Given the description of an element on the screen output the (x, y) to click on. 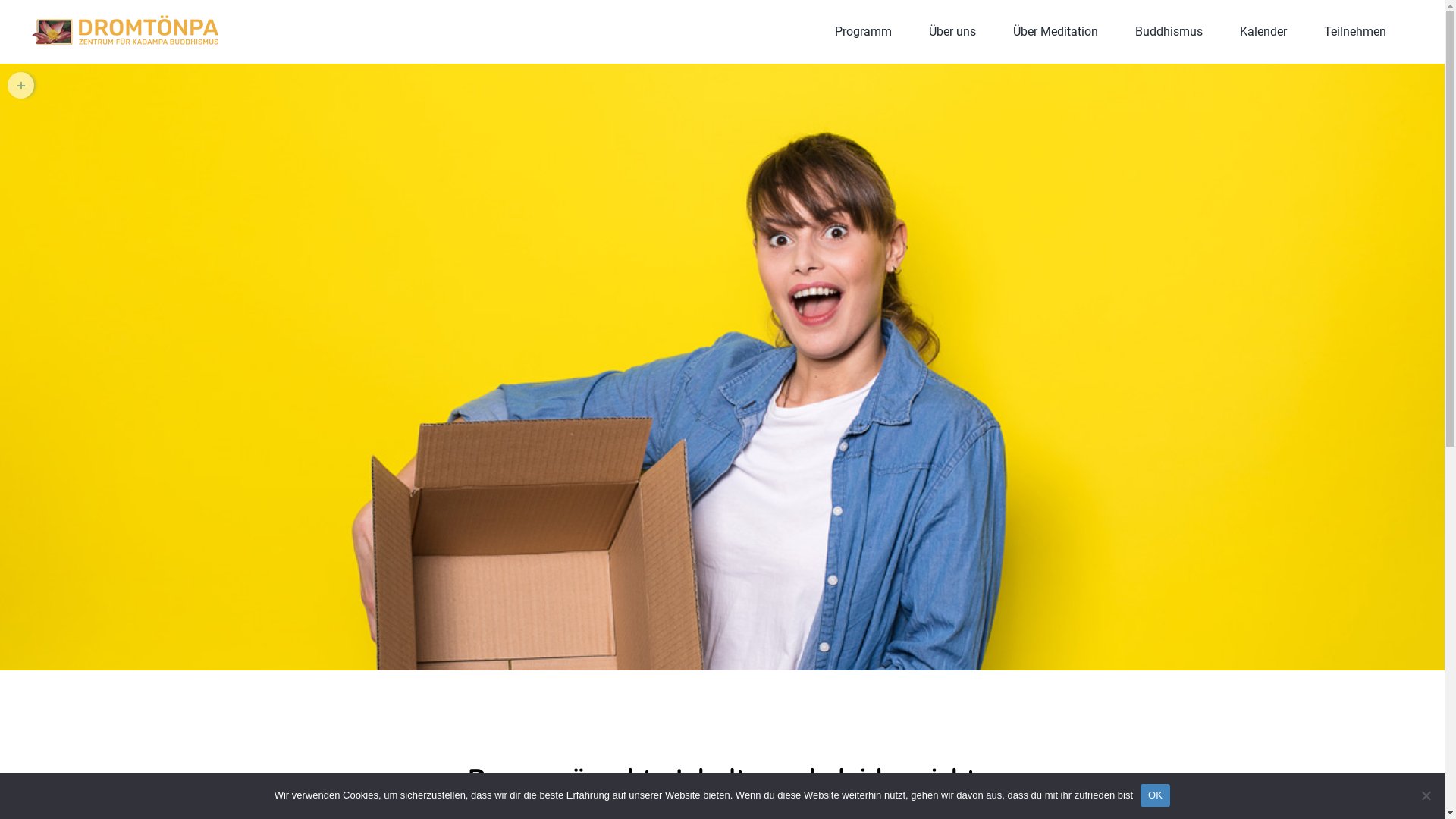
Buddhismus Element type: text (1168, 31)
Nein Element type: hover (1425, 795)
Kalender Element type: text (1262, 31)
Toggle Sliding Bar Area Element type: text (20, 85)
Programm Element type: text (862, 31)
OK Element type: text (1155, 795)
Teilnehmen Element type: text (1354, 31)
